Given the description of an element on the screen output the (x, y) to click on. 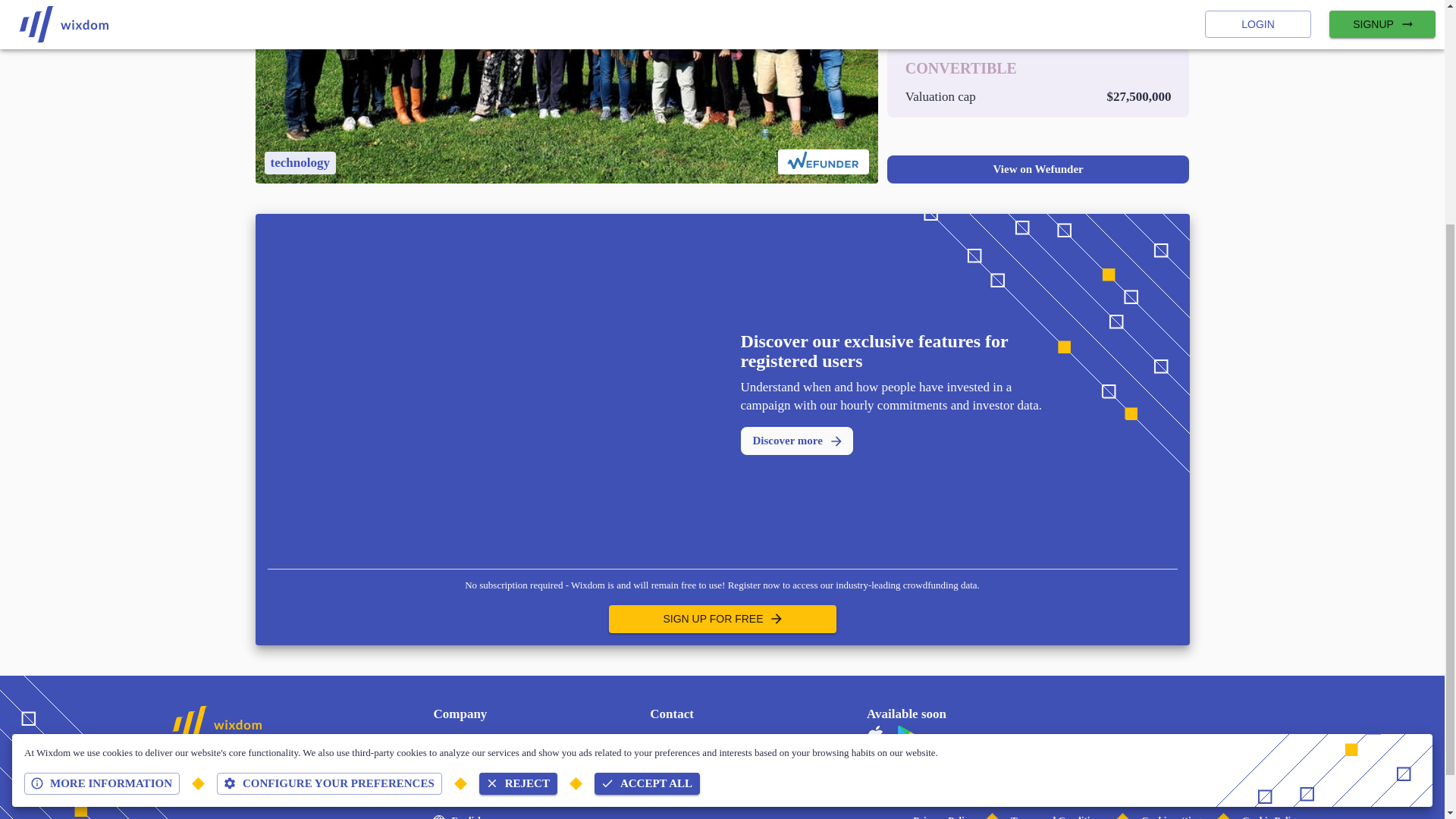
CONFIGURE YOUR PREFERENCES (329, 465)
REJECT (518, 465)
View on Wefunder (1037, 168)
Discover more (795, 440)
Collisio Technologies (476, 735)
ACCEPT ALL (647, 465)
MORE INFORMATION (101, 465)
View on Wefunder (1037, 169)
SIGN UP FOR FREE (721, 619)
